Given the description of an element on the screen output the (x, y) to click on. 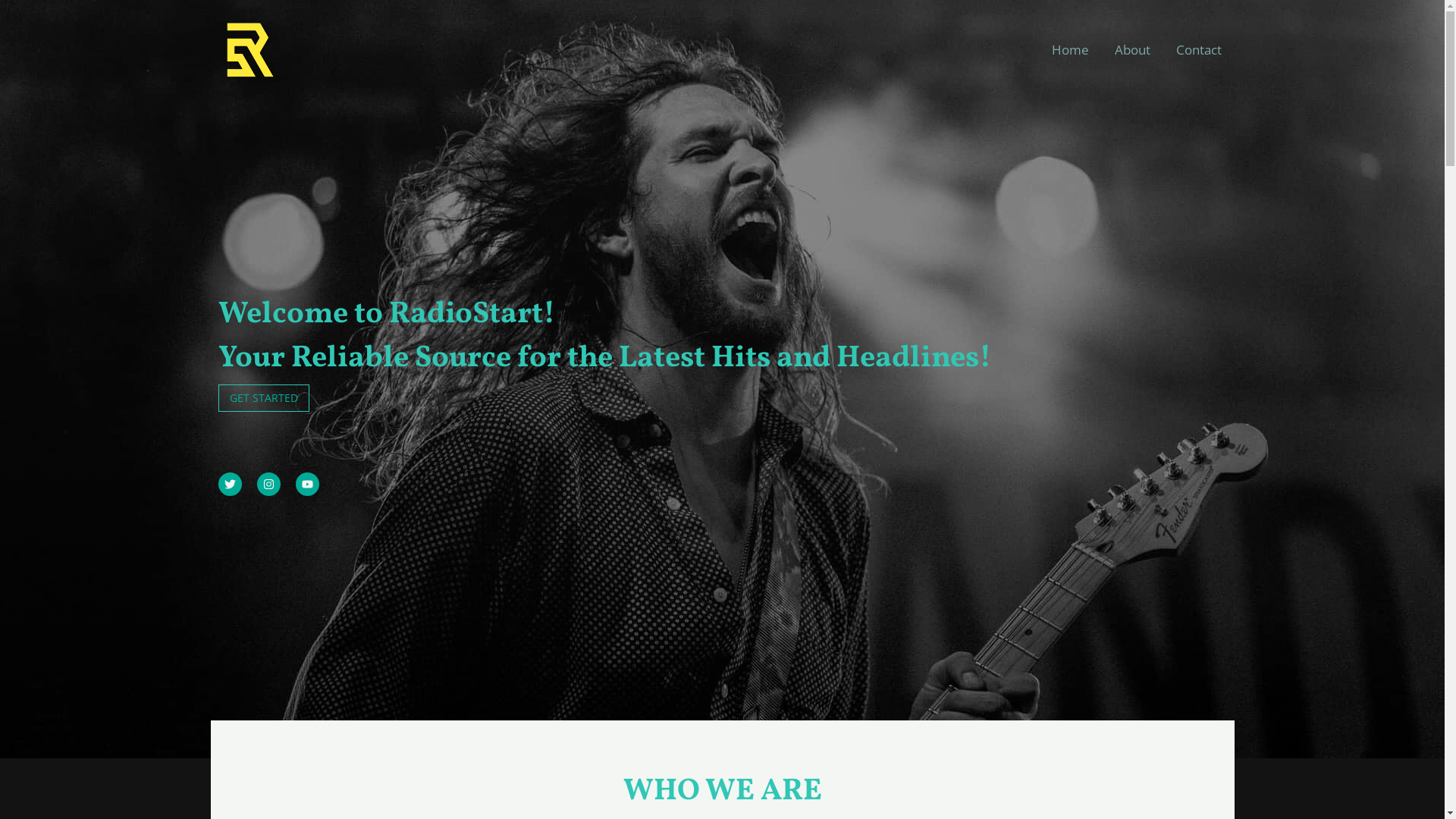
About Element type: text (1131, 49)
Contact Element type: text (1198, 49)
Home Element type: text (1069, 49)
GET STARTED Element type: text (263, 397)
